Given the description of an element on the screen output the (x, y) to click on. 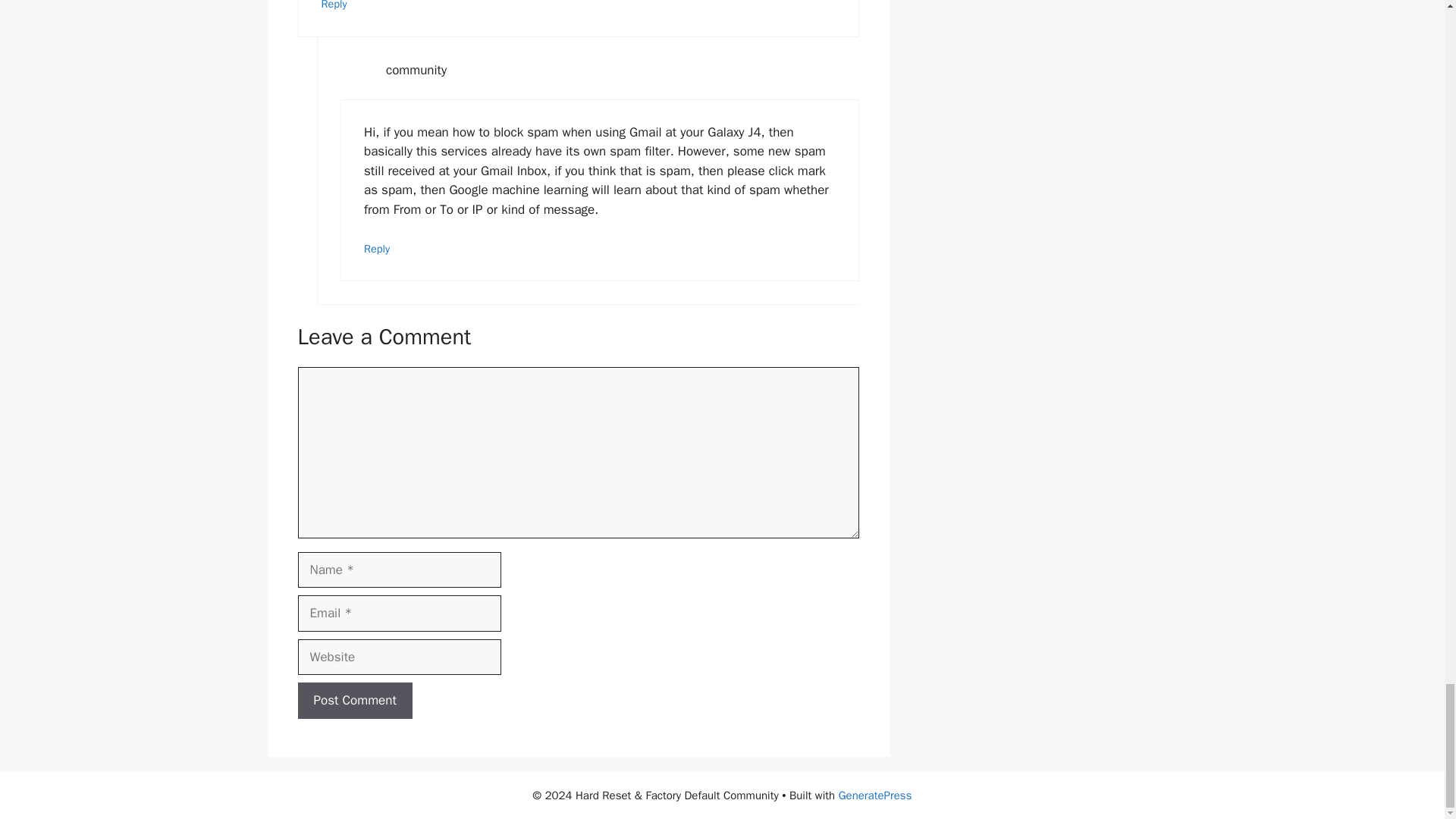
Reply (377, 248)
Reply (334, 5)
Post Comment (354, 700)
Post Comment (354, 700)
